Given the description of an element on the screen output the (x, y) to click on. 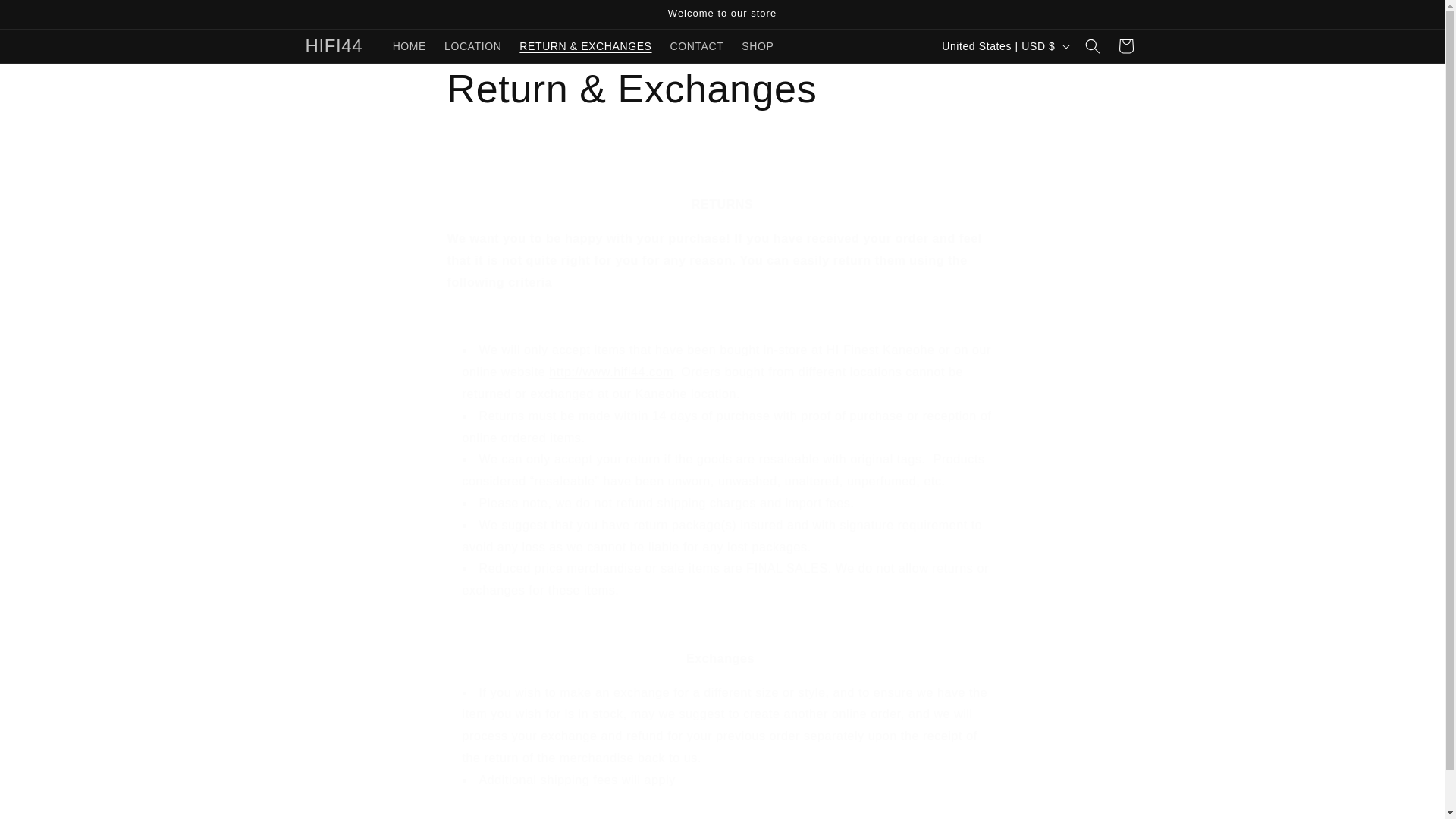
LOCATION (473, 46)
CONTACT (697, 46)
SHOP (757, 46)
HIFI44 (333, 46)
HOME (409, 46)
Cart (1124, 46)
Skip to content (45, 17)
